Given the description of an element on the screen output the (x, y) to click on. 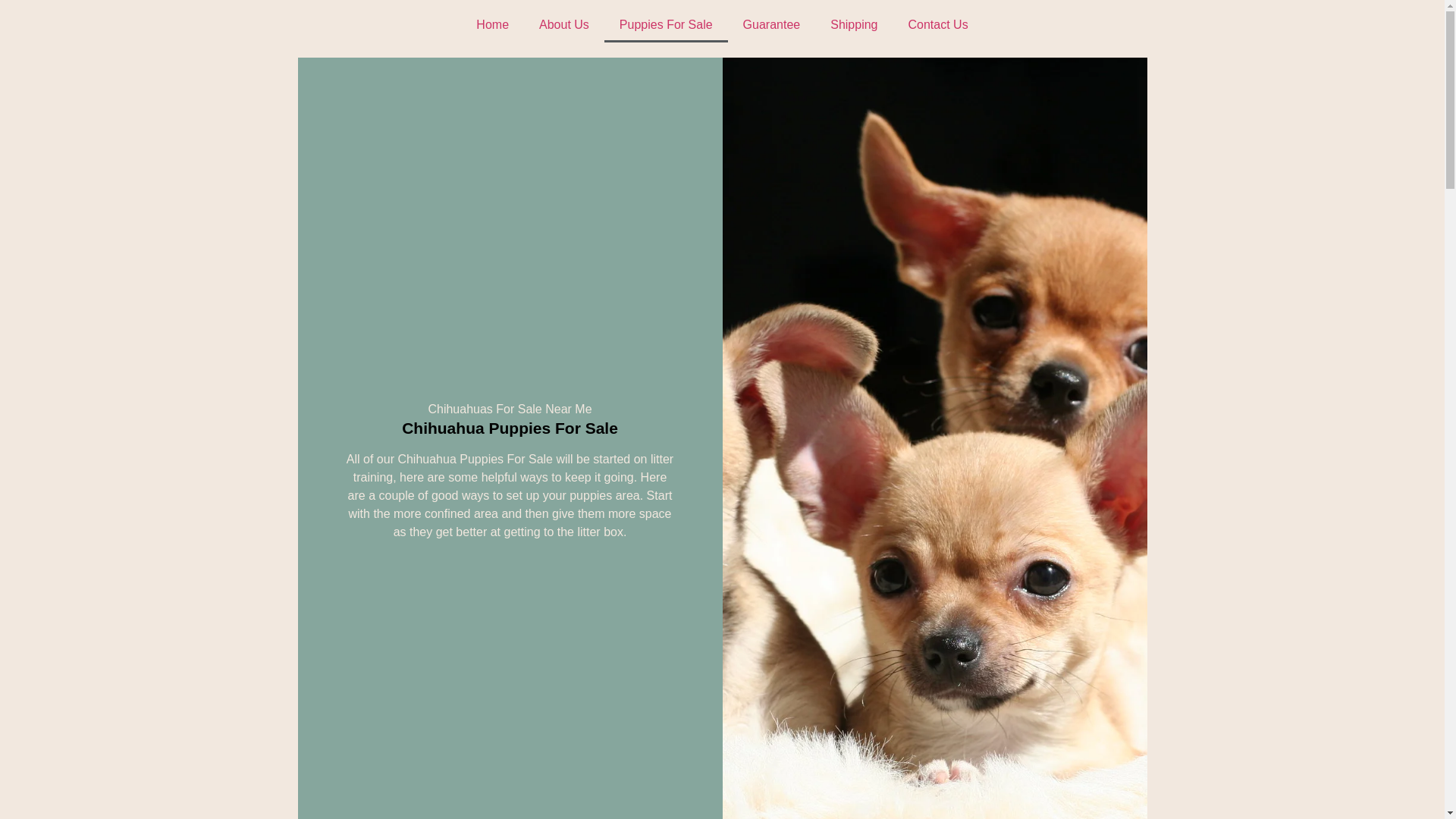
About Us (564, 24)
Home (492, 24)
Shipping (853, 24)
Contact Us (937, 24)
Guarantee (771, 24)
Puppies For Sale (666, 24)
